Given the description of an element on the screen output the (x, y) to click on. 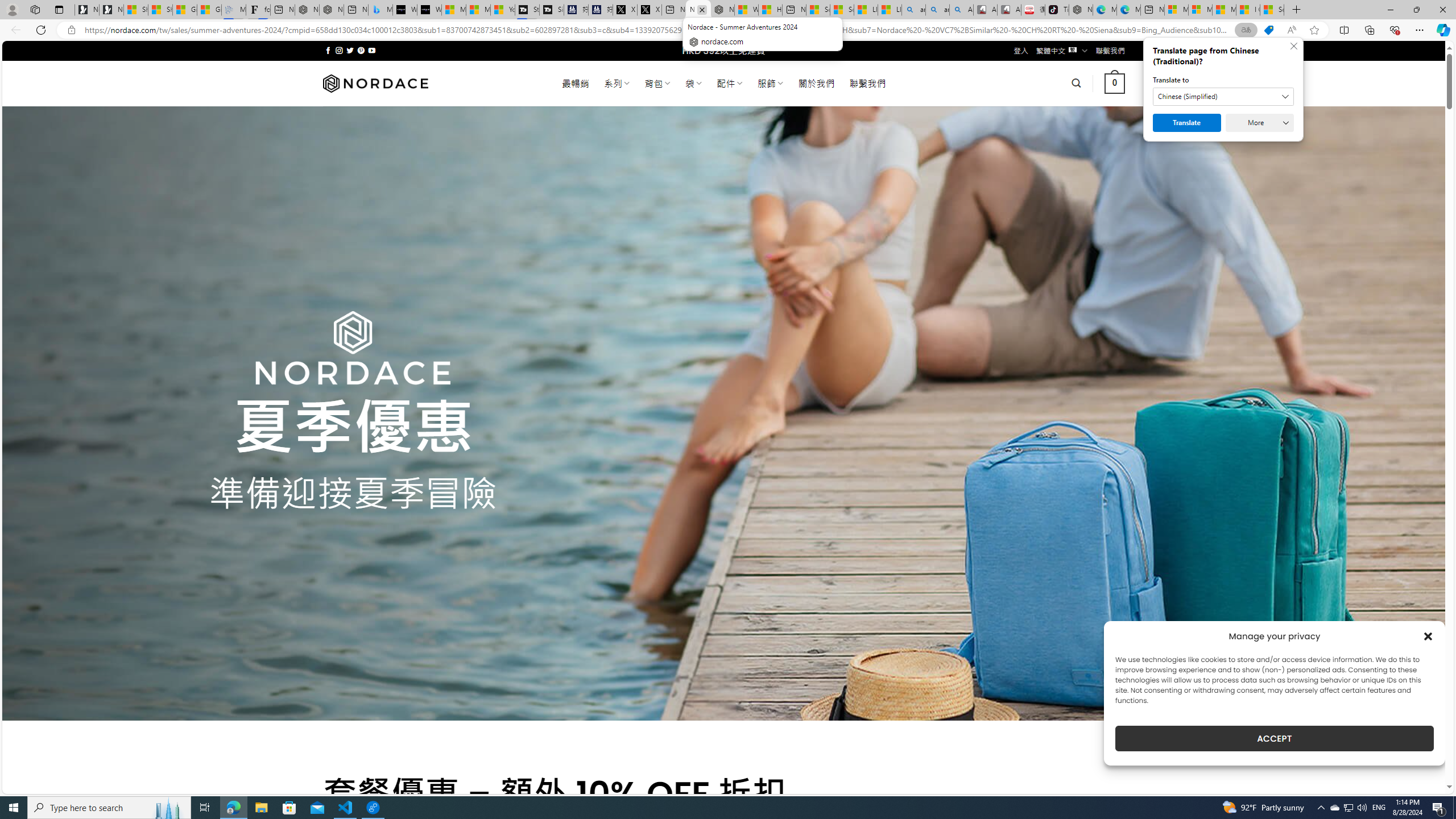
Nordace - Best Sellers (1080, 9)
 0  (1115, 83)
Translate to (1223, 96)
Streaming Coverage | T3 (526, 9)
